Given the description of an element on the screen output the (x, y) to click on. 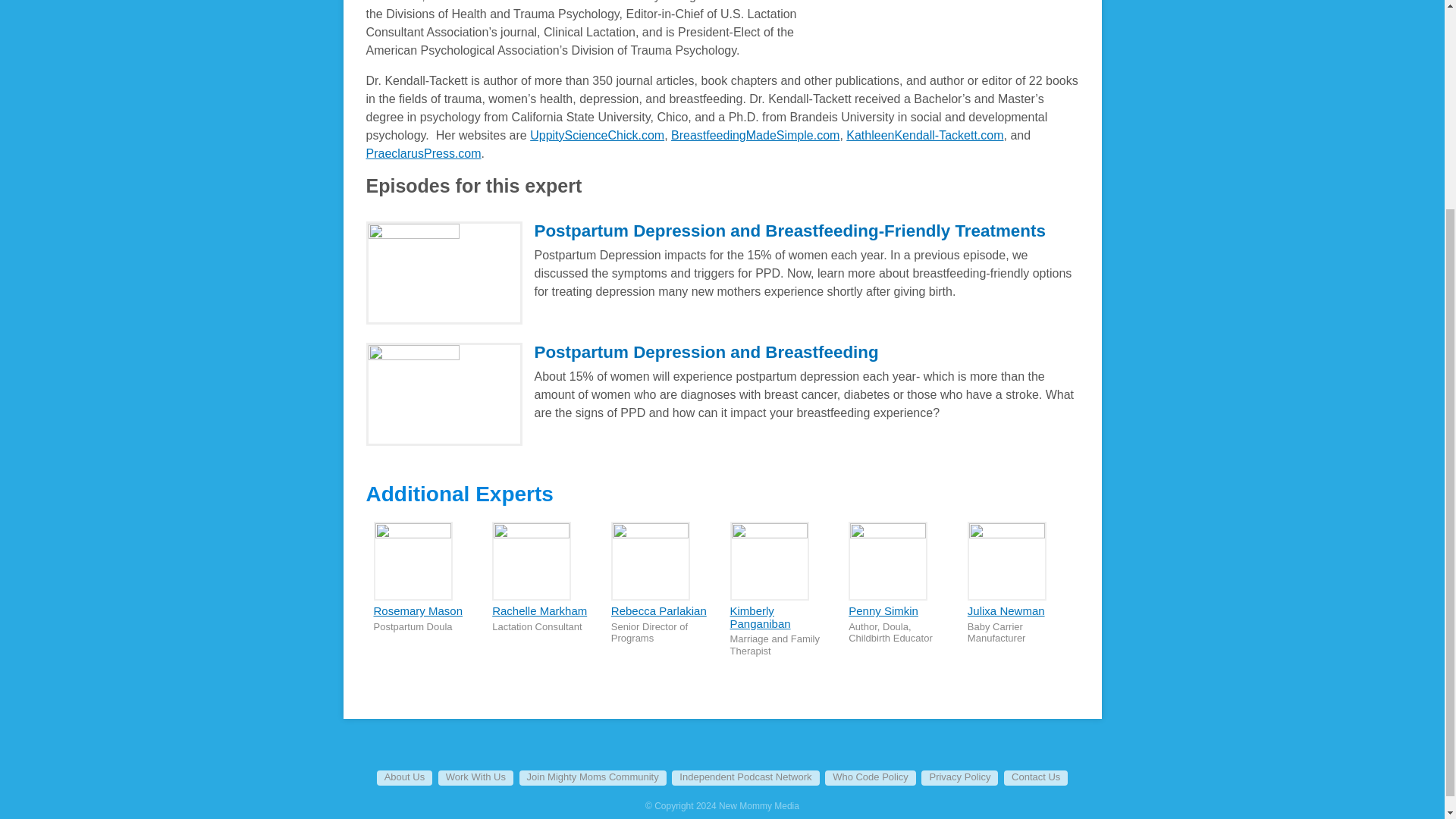
Rebecca Parlakian (658, 610)
BreastfeedingMadeSimple.com (755, 134)
Rachelle Markham (539, 610)
Join Mighty Moms Community (592, 777)
Julixa Newman (1006, 610)
UppityScienceChick.com (596, 134)
Postpartum Depression and Breastfeeding (705, 352)
Kimberly Panganiban (760, 616)
Penny Simkin (883, 610)
Kimberly Panganiban (760, 616)
